Given the description of an element on the screen output the (x, y) to click on. 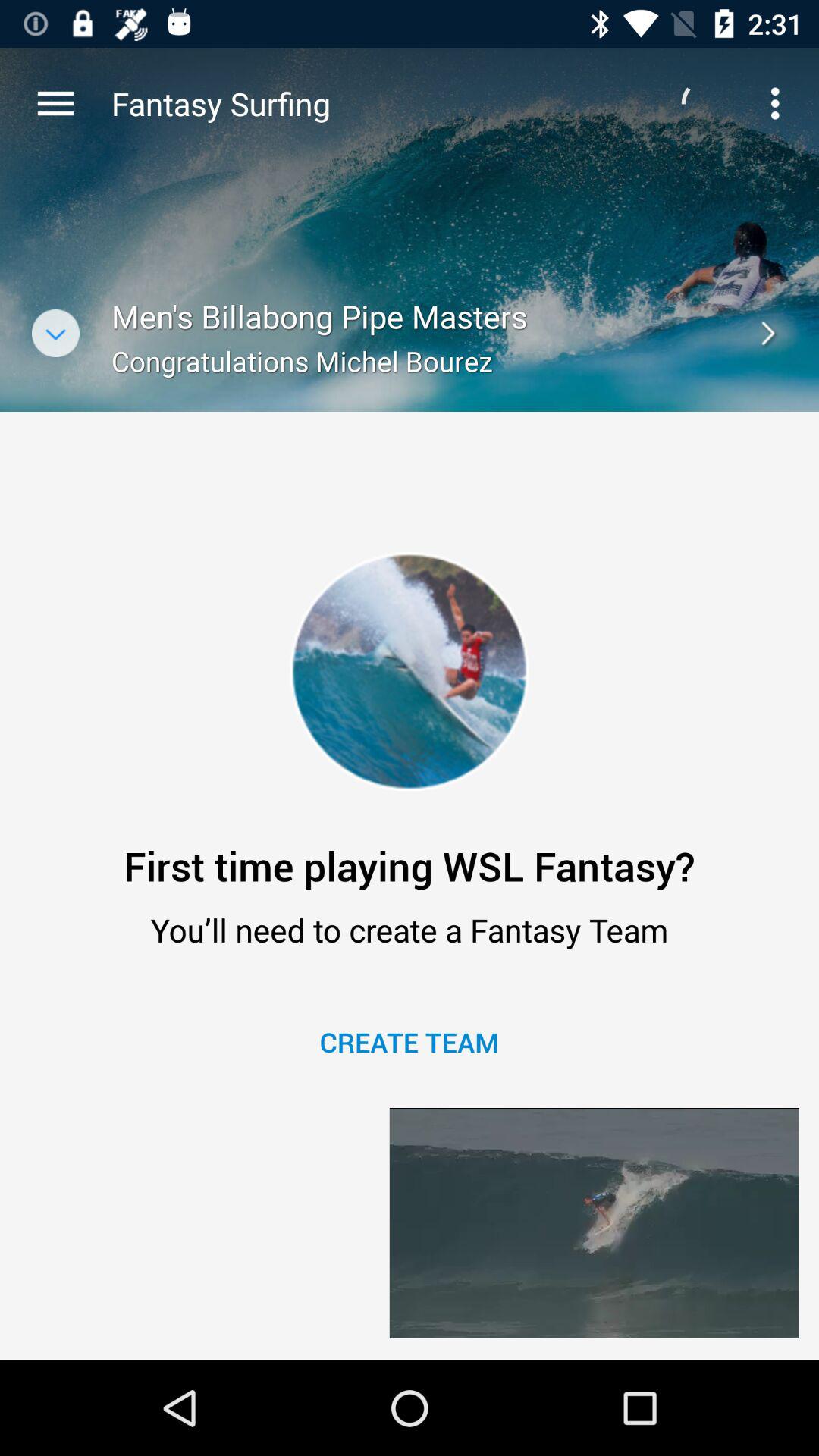
select the blue color text (409, 1042)
